Given the description of an element on the screen output the (x, y) to click on. 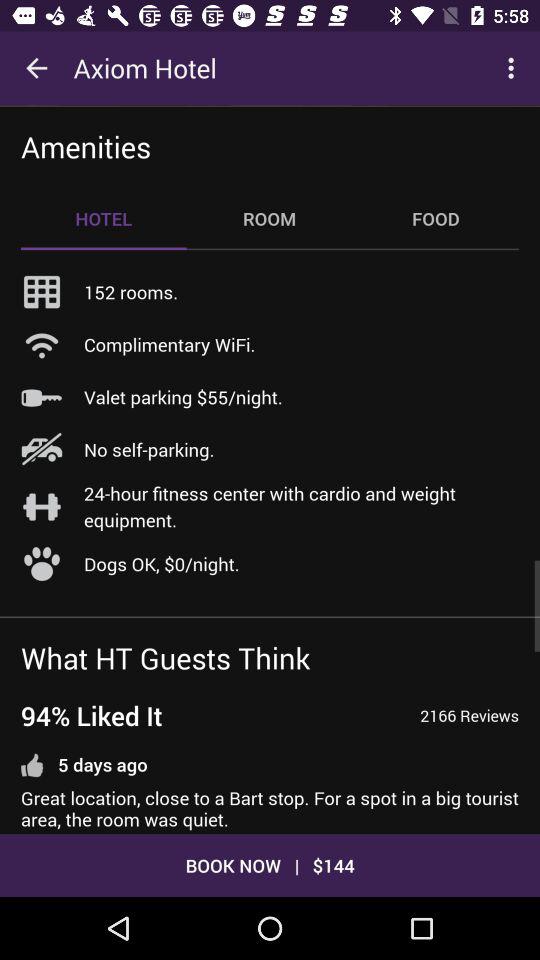
select the icon above the no self-parking. (183, 396)
